Given the description of an element on the screen output the (x, y) to click on. 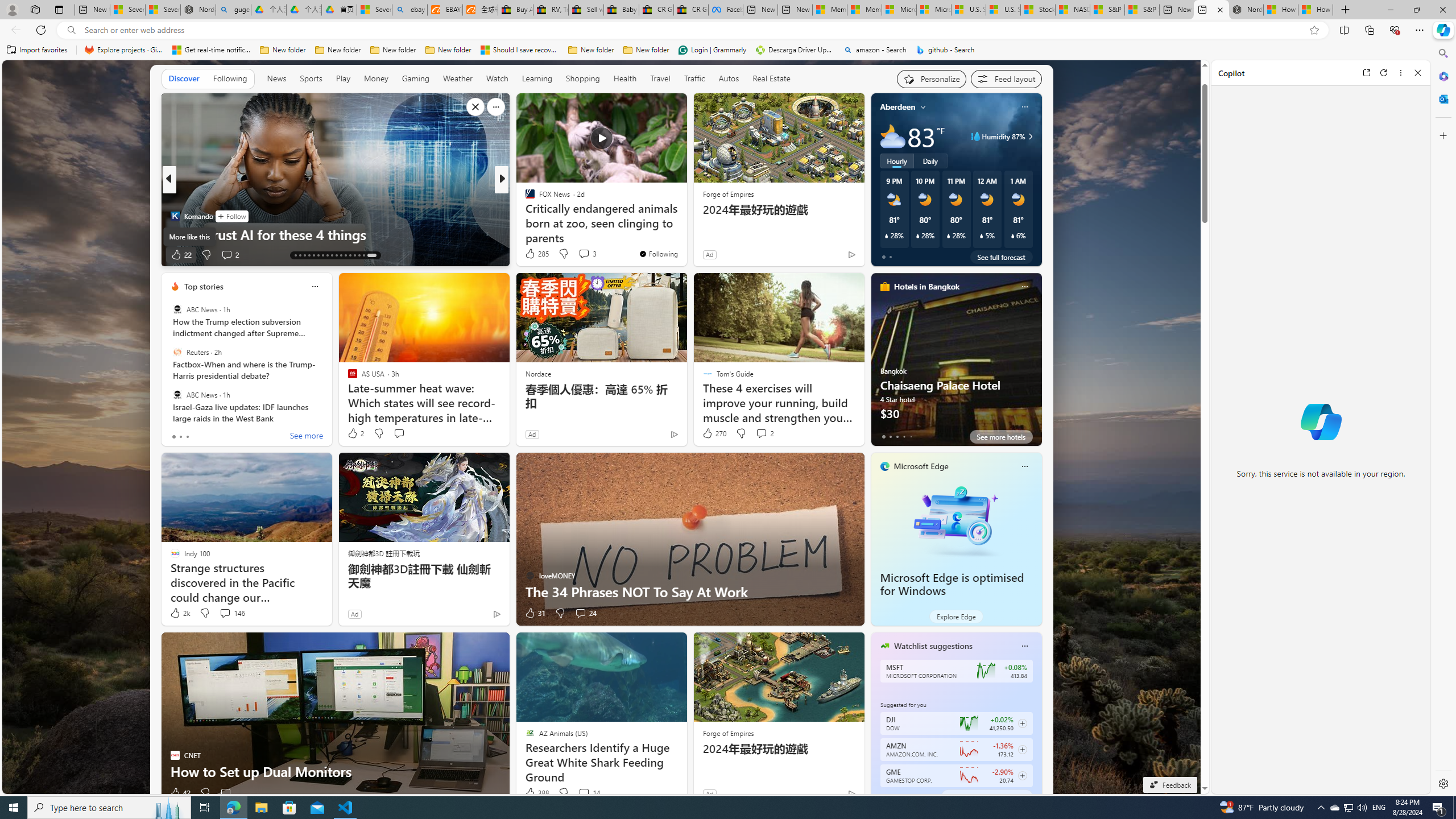
tab-4 (910, 795)
Start the conversation (225, 792)
How to Use a Monitor With Your Closed Laptop (1315, 9)
2 Like (355, 433)
Chaisaeng Palace Hotel (956, 363)
Should I save recovered Word documents? - Microsoft Support (519, 49)
News (276, 78)
View comments 146 Comment (224, 613)
Don't trust AI for these 4 things (335, 234)
AutomationID: tab-17 (313, 255)
